Given the description of an element on the screen output the (x, y) to click on. 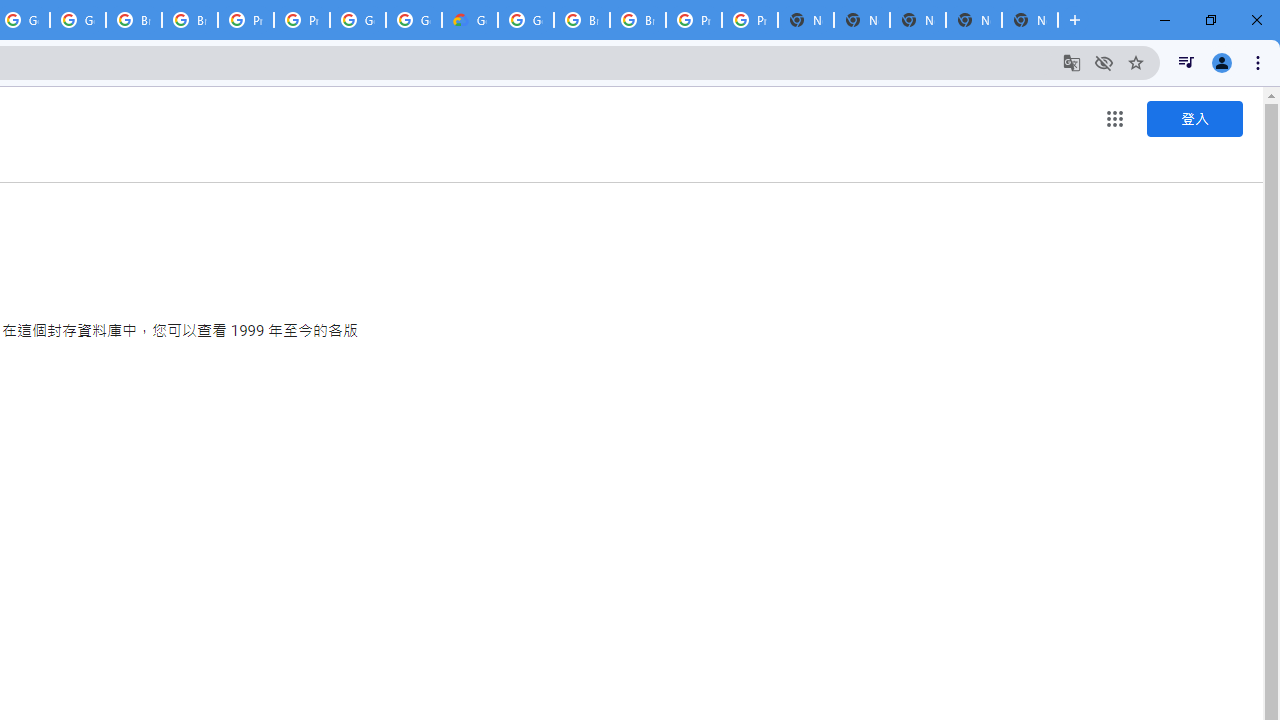
Browse Chrome as a guest - Computer - Google Chrome Help (134, 20)
Google Cloud Platform (413, 20)
Google Cloud Platform (358, 20)
Browse Chrome as a guest - Computer - Google Chrome Help (582, 20)
New Tab (1030, 20)
